Given the description of an element on the screen output the (x, y) to click on. 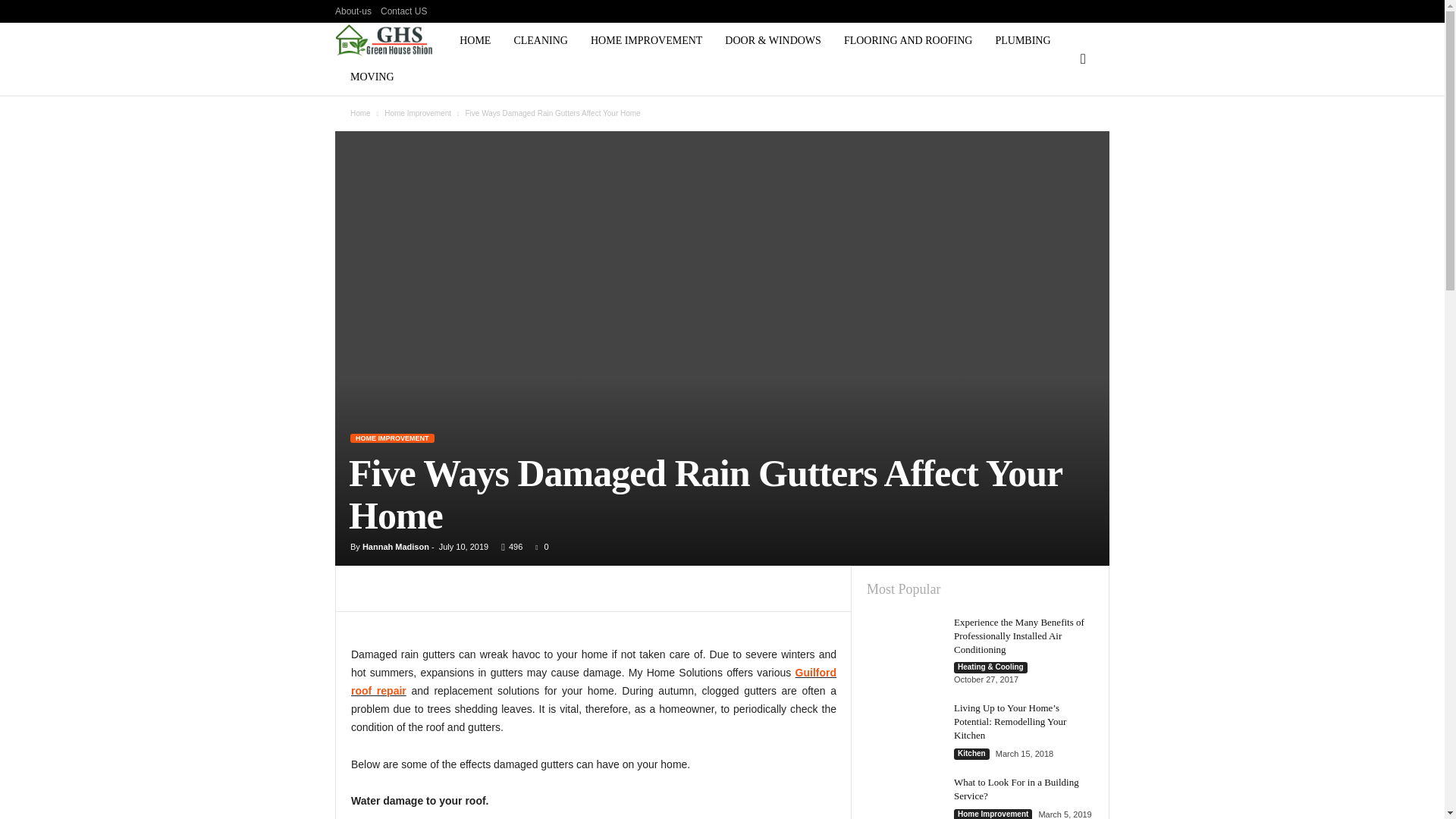
0 (538, 546)
View all posts in Home Improvement (417, 112)
PLUMBING (1022, 40)
HOME IMPROVEMENT (646, 40)
MOVING (372, 76)
FLOORING AND ROOFING (908, 40)
HOME IMPROVEMENT (391, 438)
CLEANING (540, 40)
About-us (352, 10)
Contact US (403, 10)
Home (360, 112)
Guilford roof repair (592, 681)
Hannah Madison (395, 546)
HOME (475, 40)
Home Improvement (417, 112)
